Given the description of an element on the screen output the (x, y) to click on. 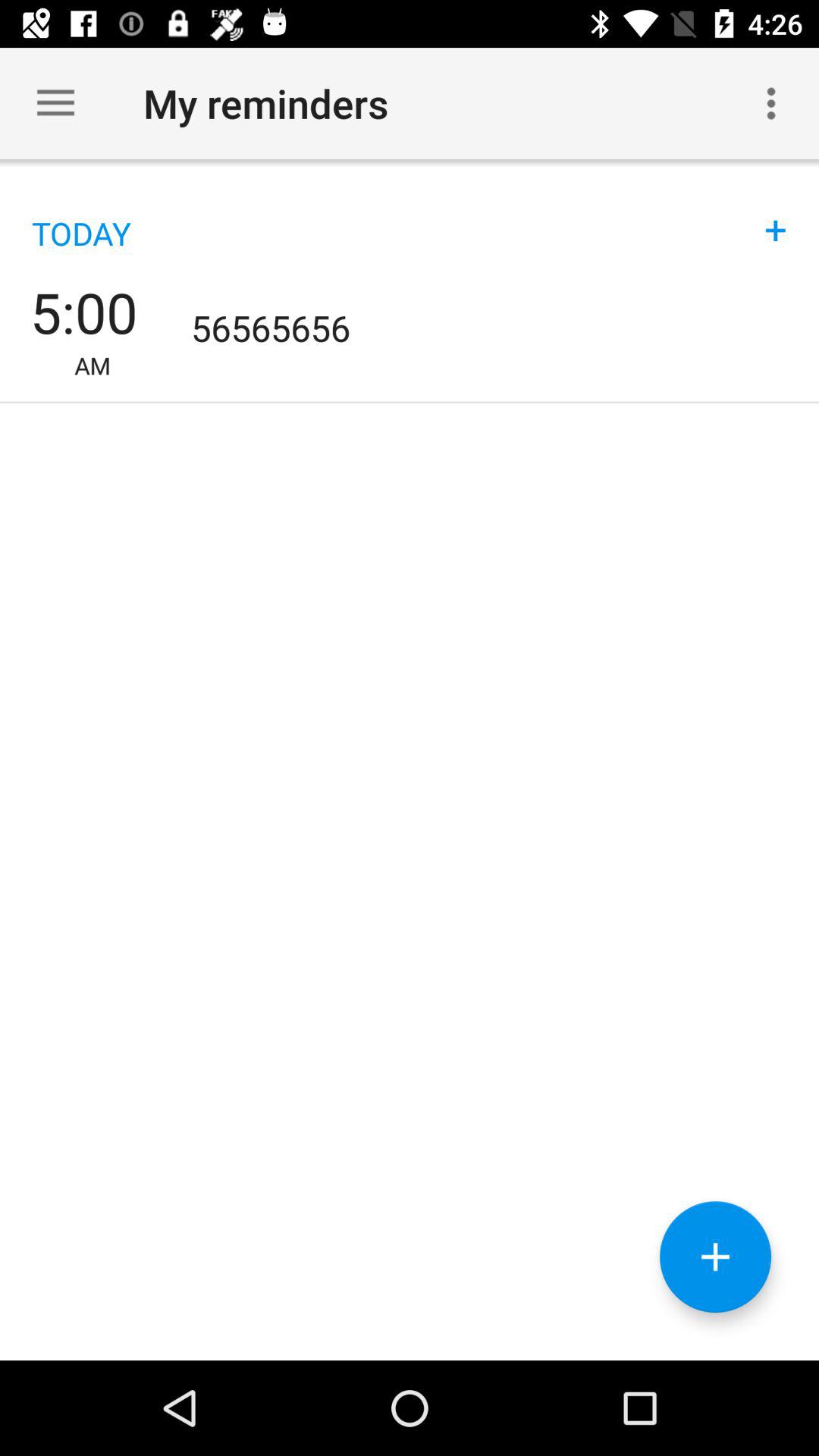
add option (715, 1256)
